Given the description of an element on the screen output the (x, y) to click on. 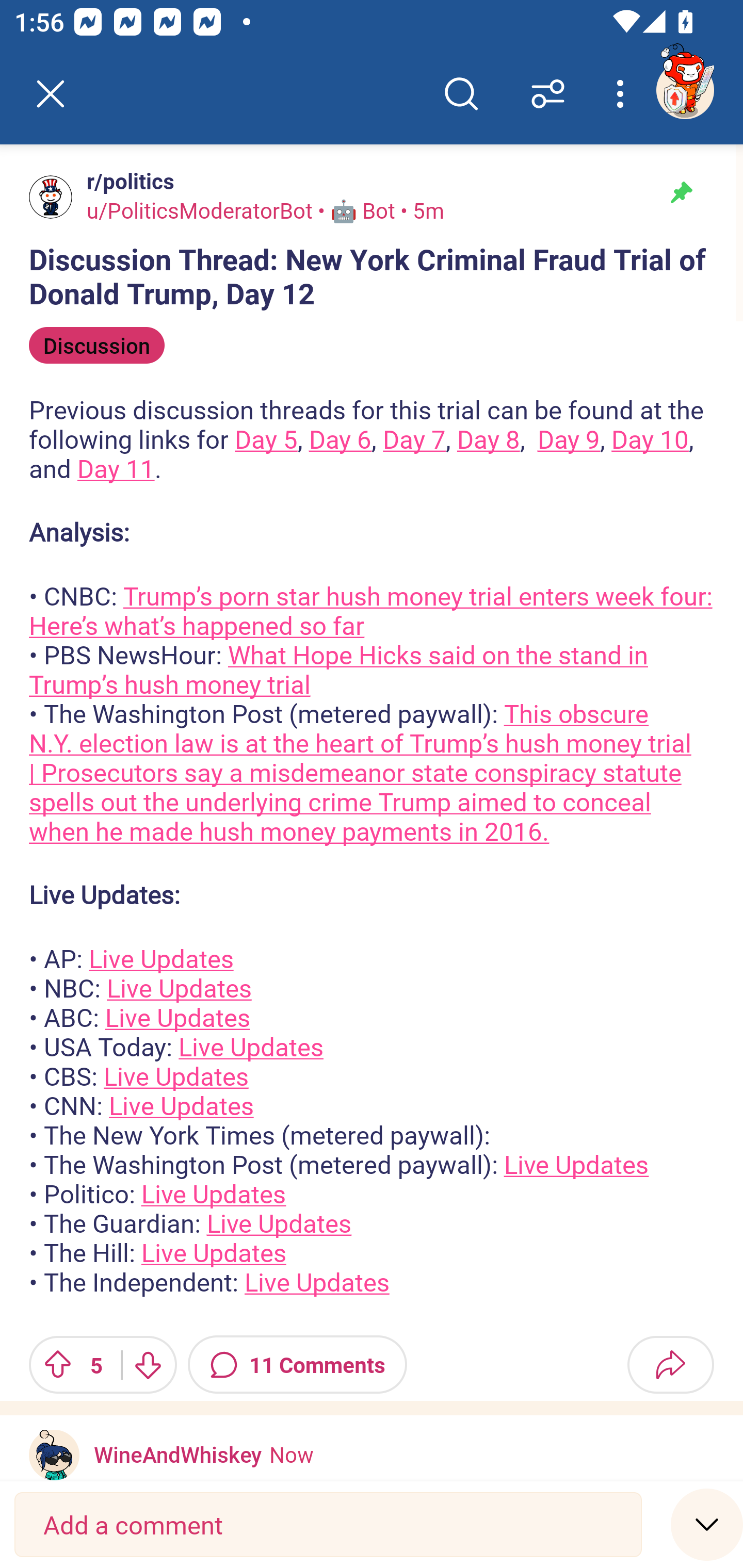
Back (50, 93)
TestAppium002 account (685, 90)
Search comments (460, 93)
Sort comments (547, 93)
More options (623, 93)
r/politics (126, 181)
Avatar (50, 196)
Pinned (681, 192)
u/PoliticsModeratorBot (199, 210)
Discussion (96, 345)
Upvote 5 (67, 1364)
Downvote (146, 1364)
11 Comments (297, 1364)
Share (670, 1364)
Custom avatar (53, 1455)
Now (290, 1454)
Speed read (706, 1524)
Add a comment (327, 1524)
